Given the description of an element on the screen output the (x, y) to click on. 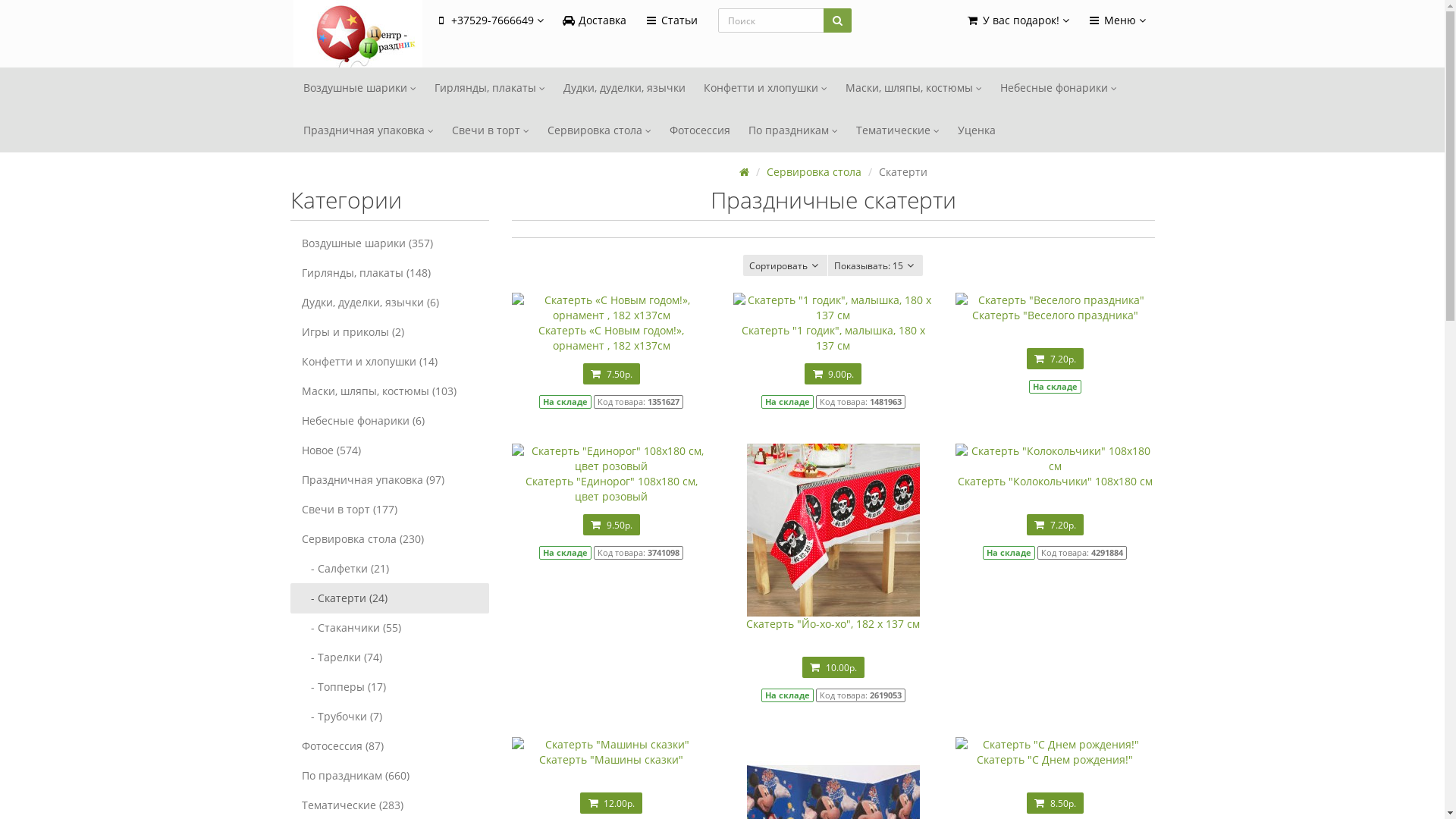
+37529-7666649 Element type: text (488, 20)
